Given the description of an element on the screen output the (x, y) to click on. 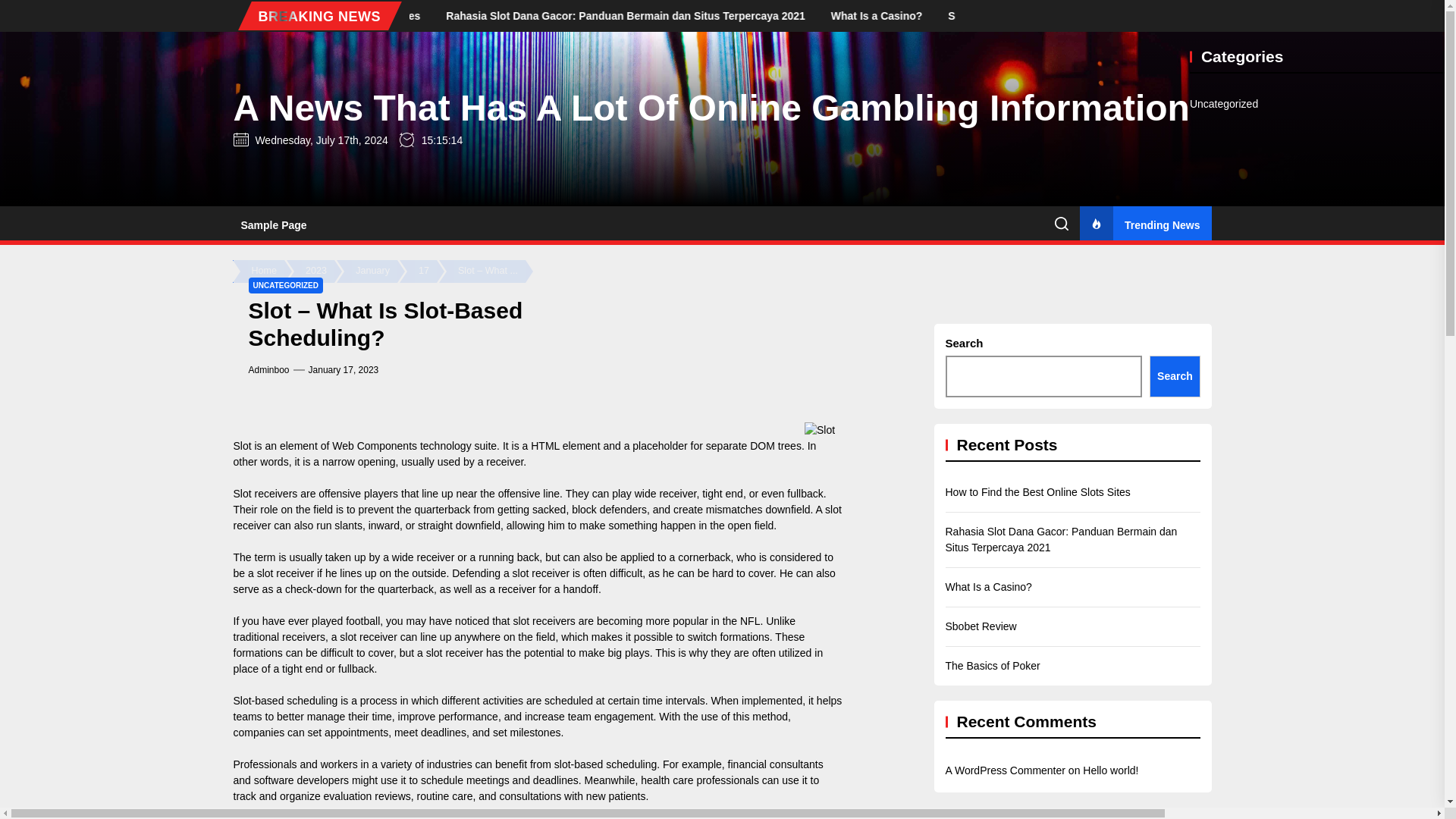
What Is a Casino? (1001, 15)
Sample Page (273, 224)
Uncategorized (1223, 104)
